Given the description of an element on the screen output the (x, y) to click on. 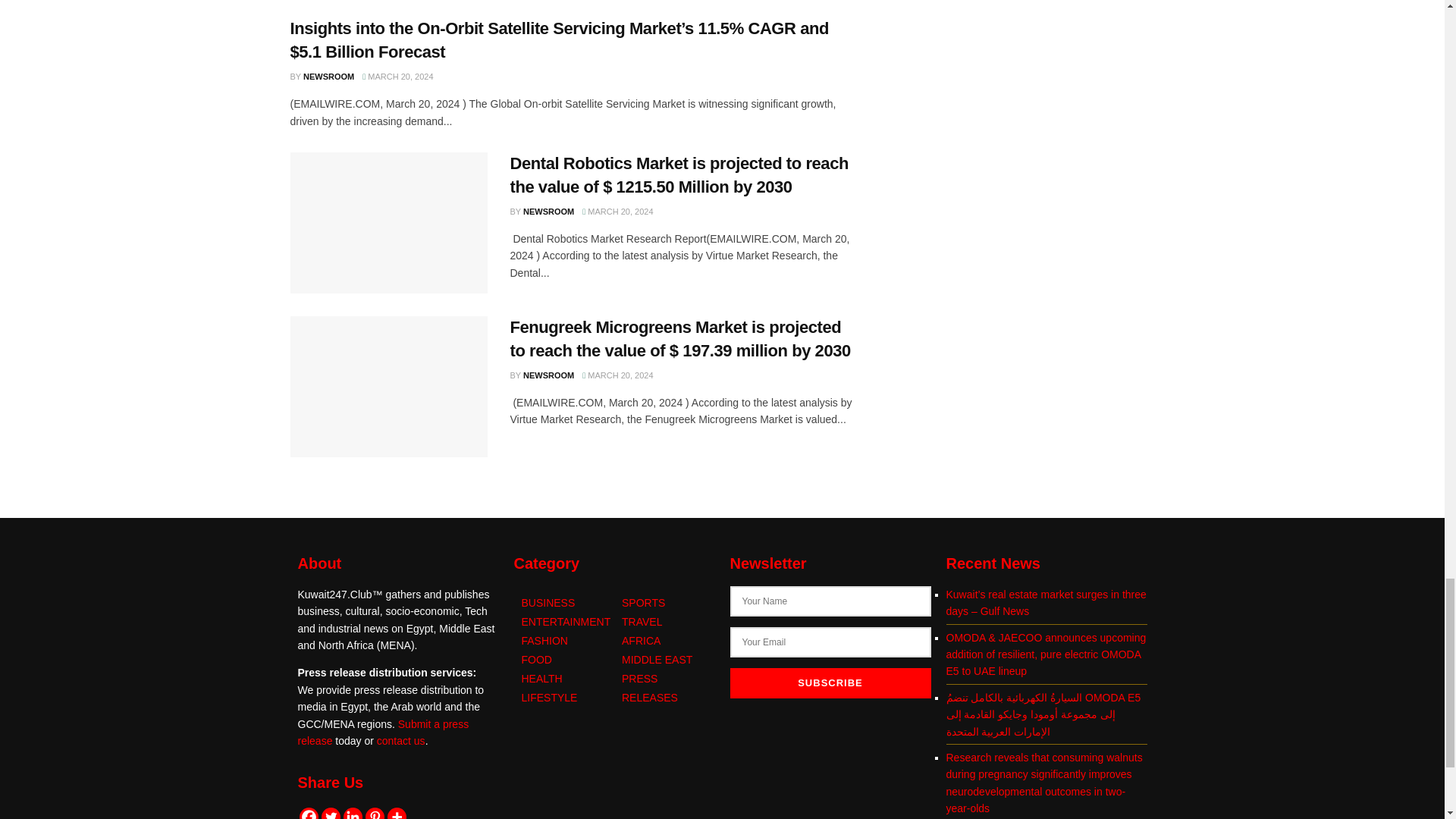
Twitter (330, 813)
Facebook (307, 813)
SUBSCRIBE (829, 683)
Linkedin (351, 813)
More (396, 813)
Pinterest (374, 813)
